Given the description of an element on the screen output the (x, y) to click on. 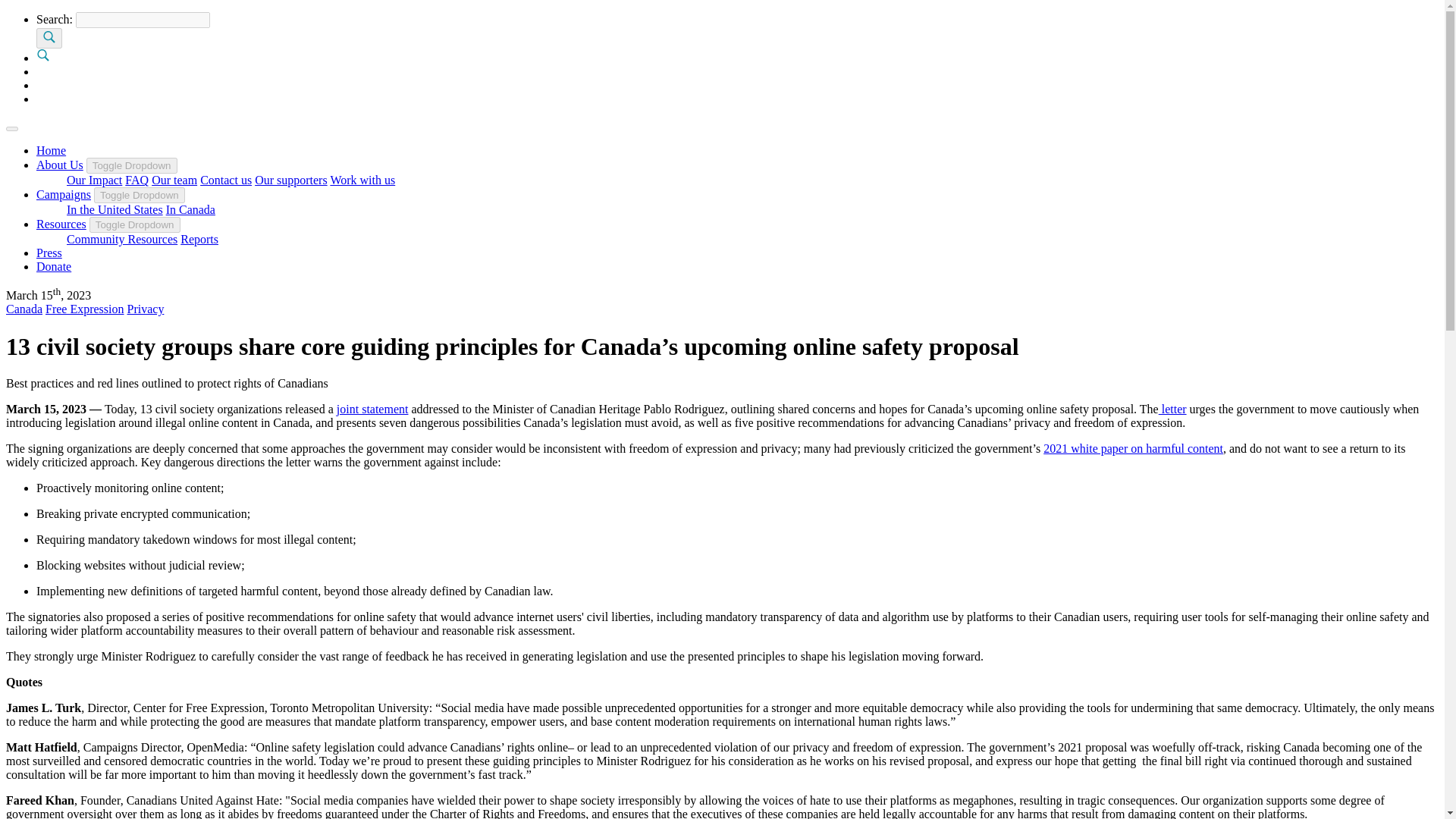
Search OpenMedia (42, 57)
Contact us (225, 179)
Toggle Dropdown (131, 165)
Our supporters (290, 179)
joint statement (372, 408)
Press (49, 252)
Reports (199, 238)
letter (1172, 408)
Our Impact (94, 179)
FAQ (136, 179)
Resources (60, 223)
Toggle Dropdown (134, 224)
Privacy (146, 308)
Canada (23, 308)
Work with us (362, 179)
